Given the description of an element on the screen output the (x, y) to click on. 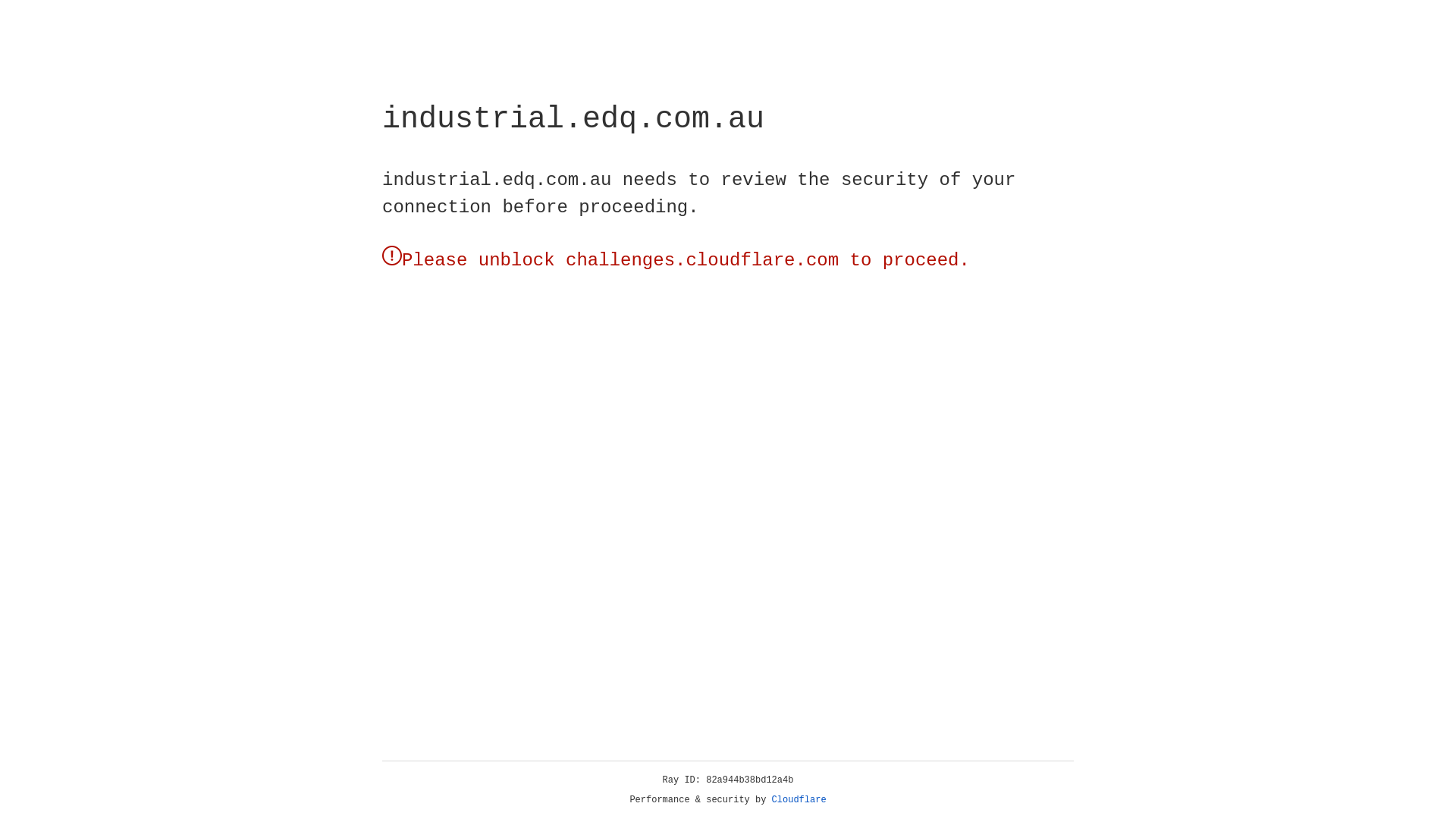
Cloudflare Element type: text (798, 799)
